Given the description of an element on the screen output the (x, y) to click on. 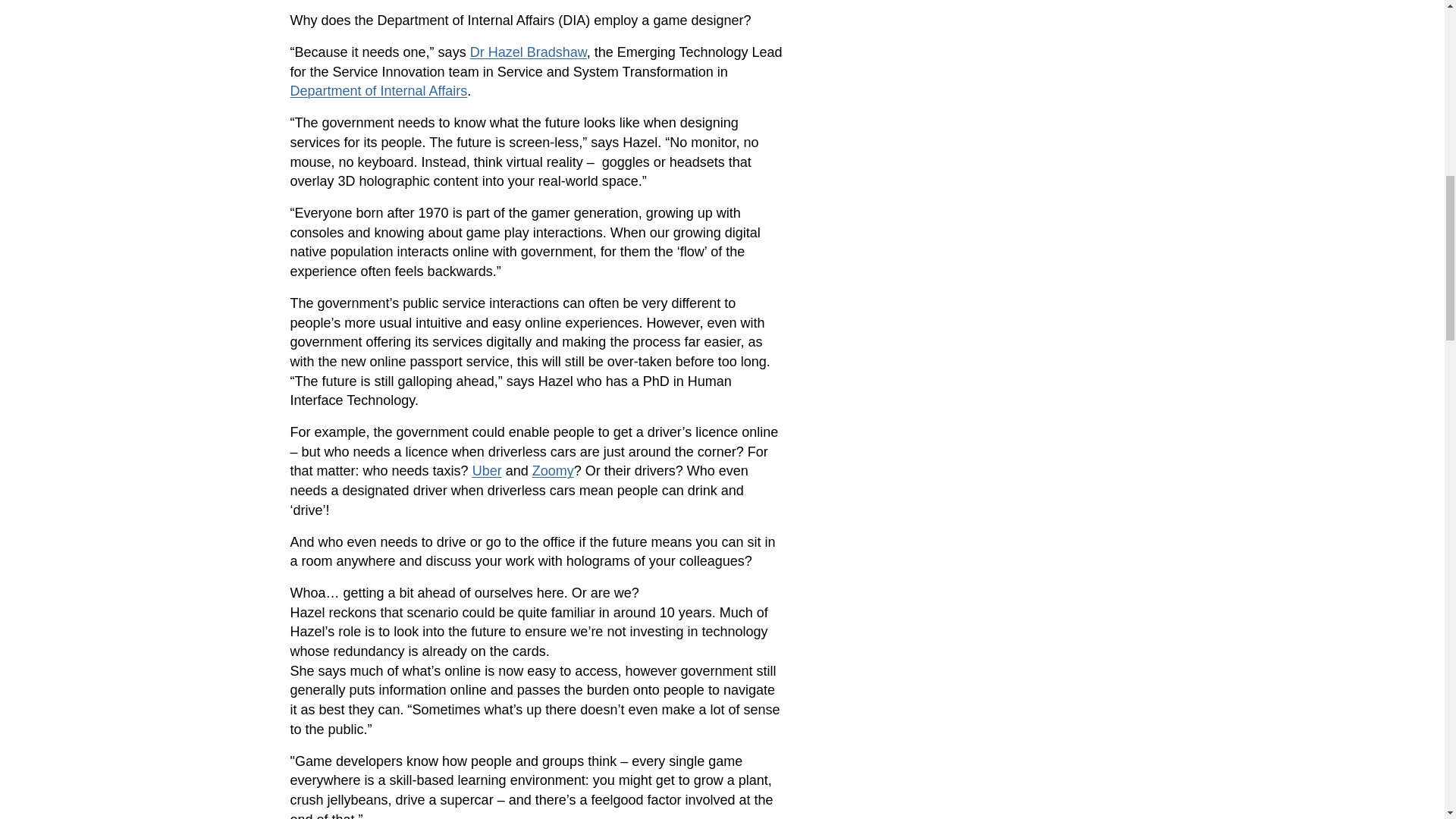
Uber (940, 174)
Zoomy (993, 174)
Department of Internal Affairs (836, 57)
Sims (495, 529)
Dr Hazel Bradshaw (195, 57)
Pokemon Go (670, 698)
Find out how to buy the Sims game (495, 529)
Go to Hazels' LinkedIn Profile (195, 57)
